Given the description of an element on the screen output the (x, y) to click on. 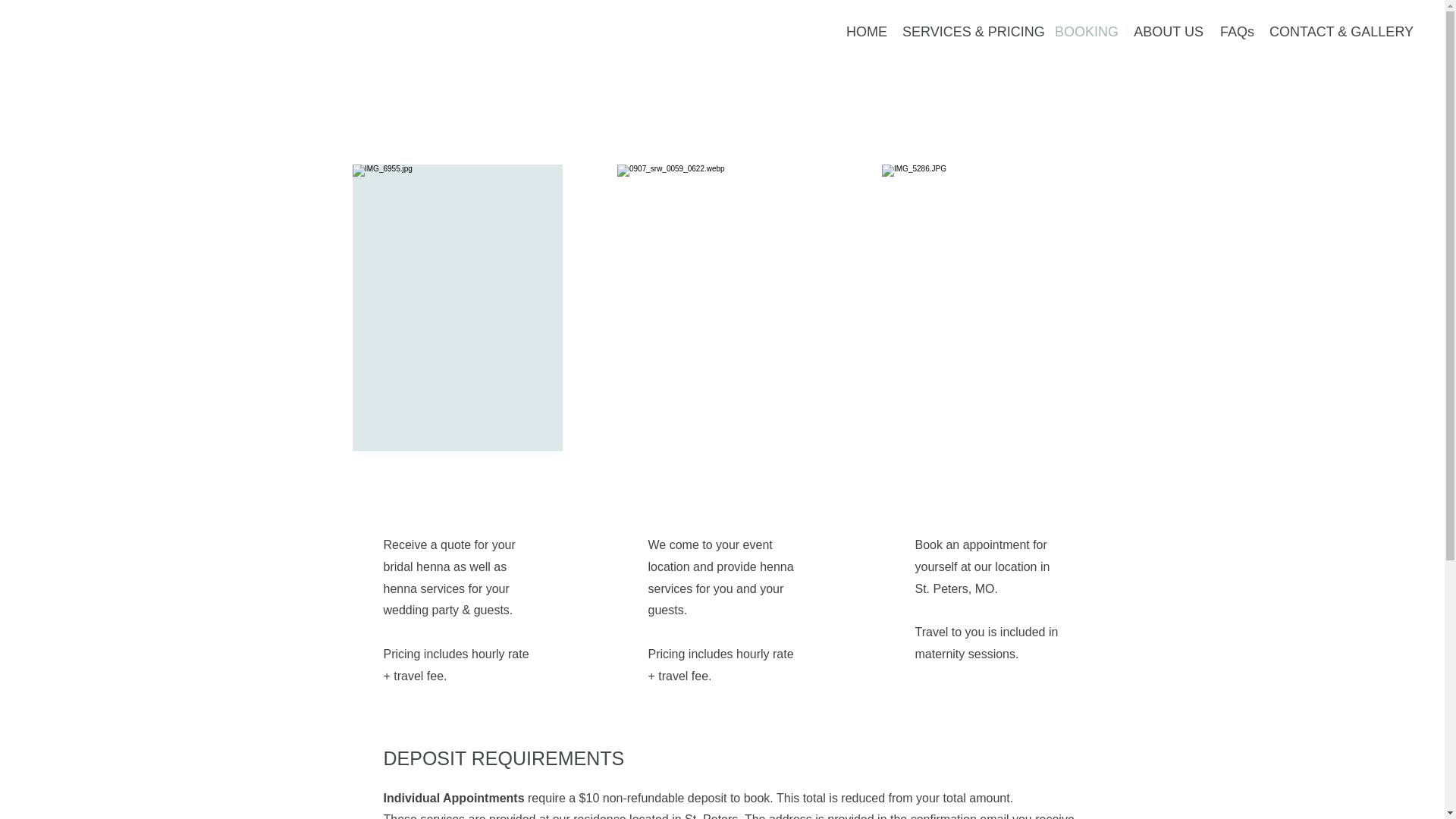
FAQs (1236, 31)
BOOKING (1083, 31)
HOME (863, 31)
ABOUT US (1168, 31)
